Given the description of an element on the screen output the (x, y) to click on. 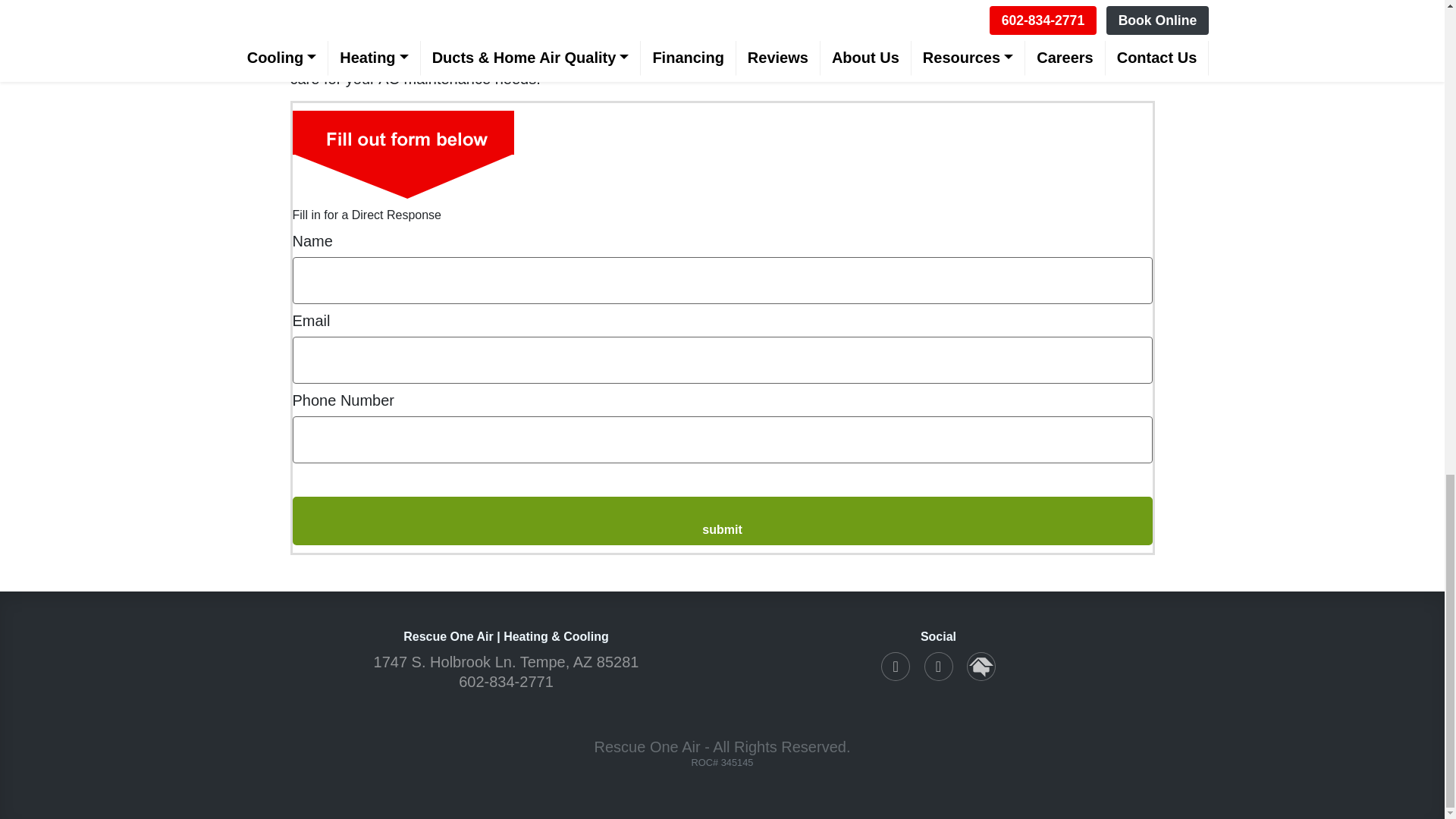
1747 S. Holbrook Ln. Tempe, AZ 85281 (506, 661)
browse through the Rescue One Air video library (746, 21)
customer reviews (503, 21)
submit (722, 520)
submit (722, 520)
602-834-2771 (505, 681)
